Given the description of an element on the screen output the (x, y) to click on. 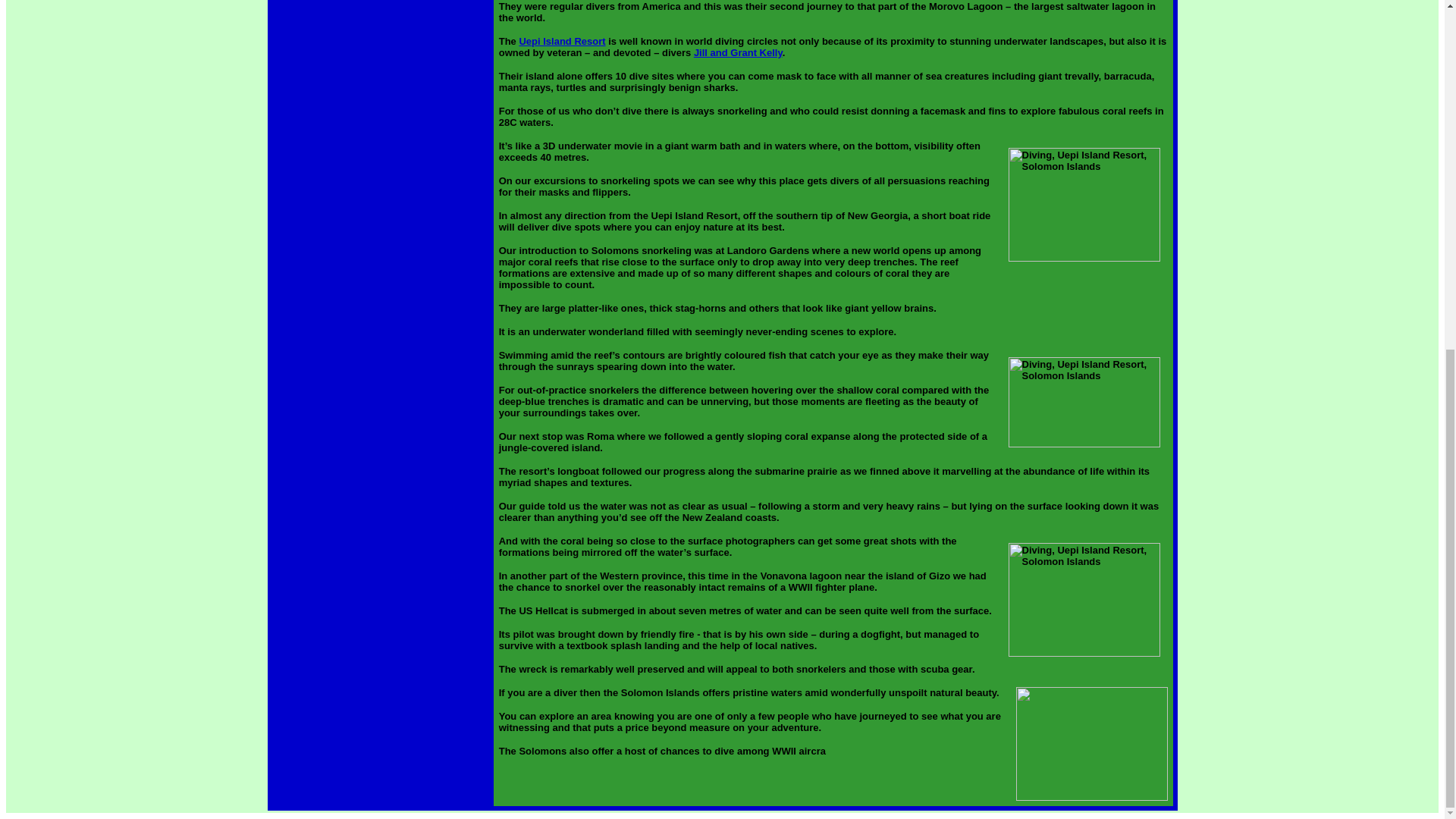
Jill and Grant Kelly (738, 52)
Uepi Island Resort (561, 41)
